Given the description of an element on the screen output the (x, y) to click on. 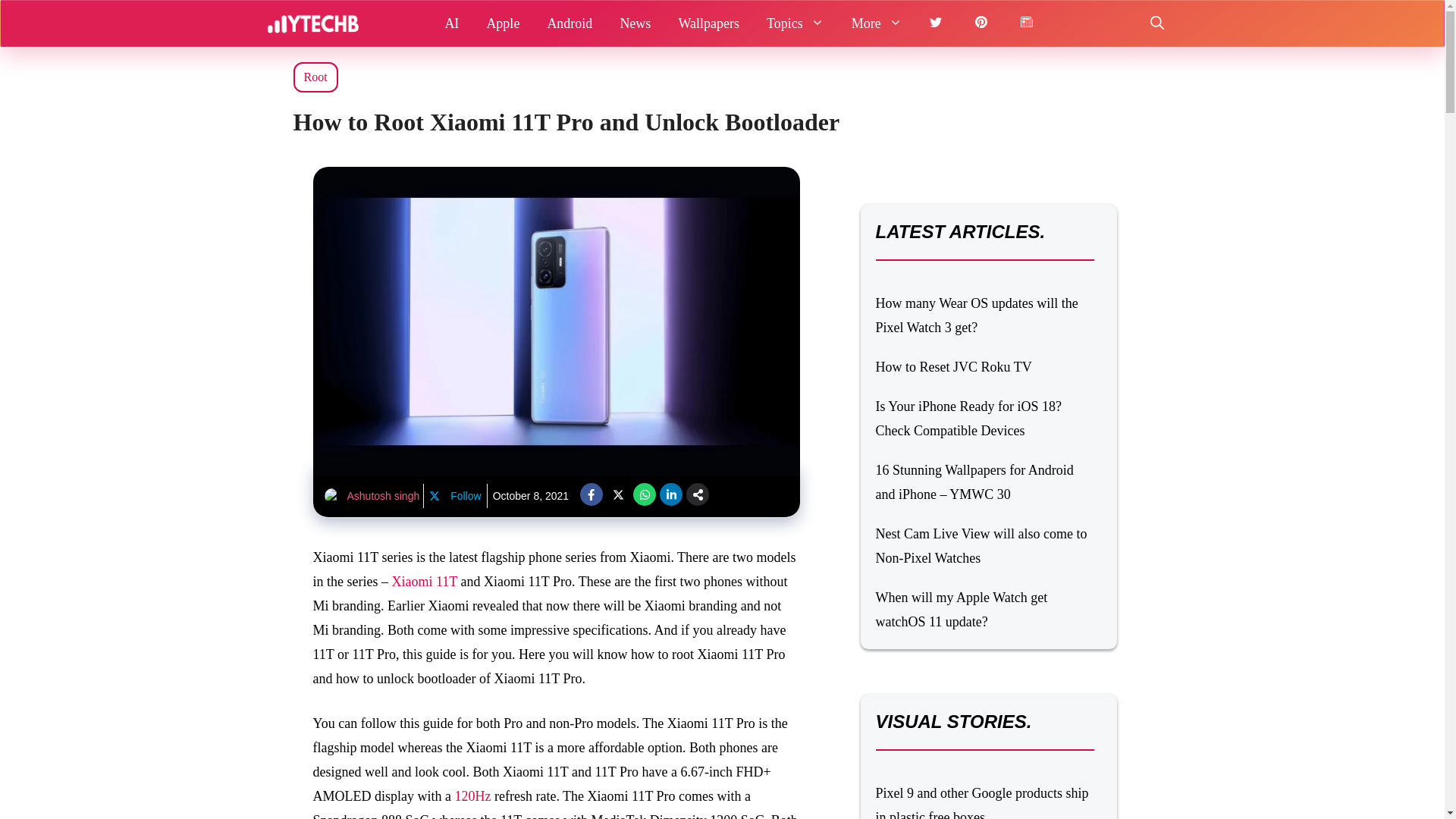
Wallpapers (707, 22)
Topics (795, 22)
Apple (501, 22)
Root (314, 76)
Android (568, 22)
More (876, 22)
AI (450, 22)
YTECHB (312, 22)
News (634, 22)
Follow (454, 495)
